Given the description of an element on the screen output the (x, y) to click on. 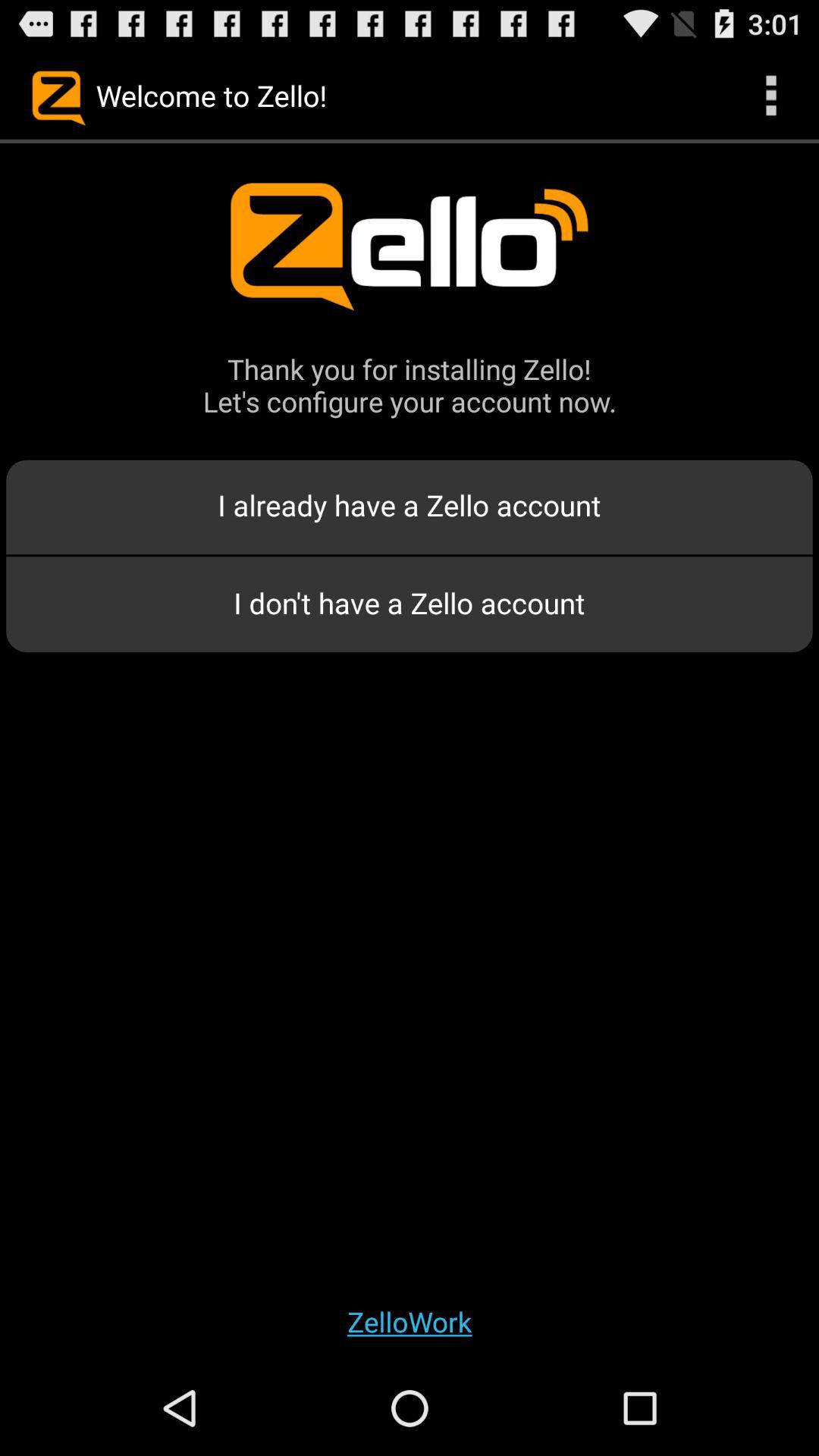
select the item next to welcome to zello! item (771, 95)
